Given the description of an element on the screen output the (x, y) to click on. 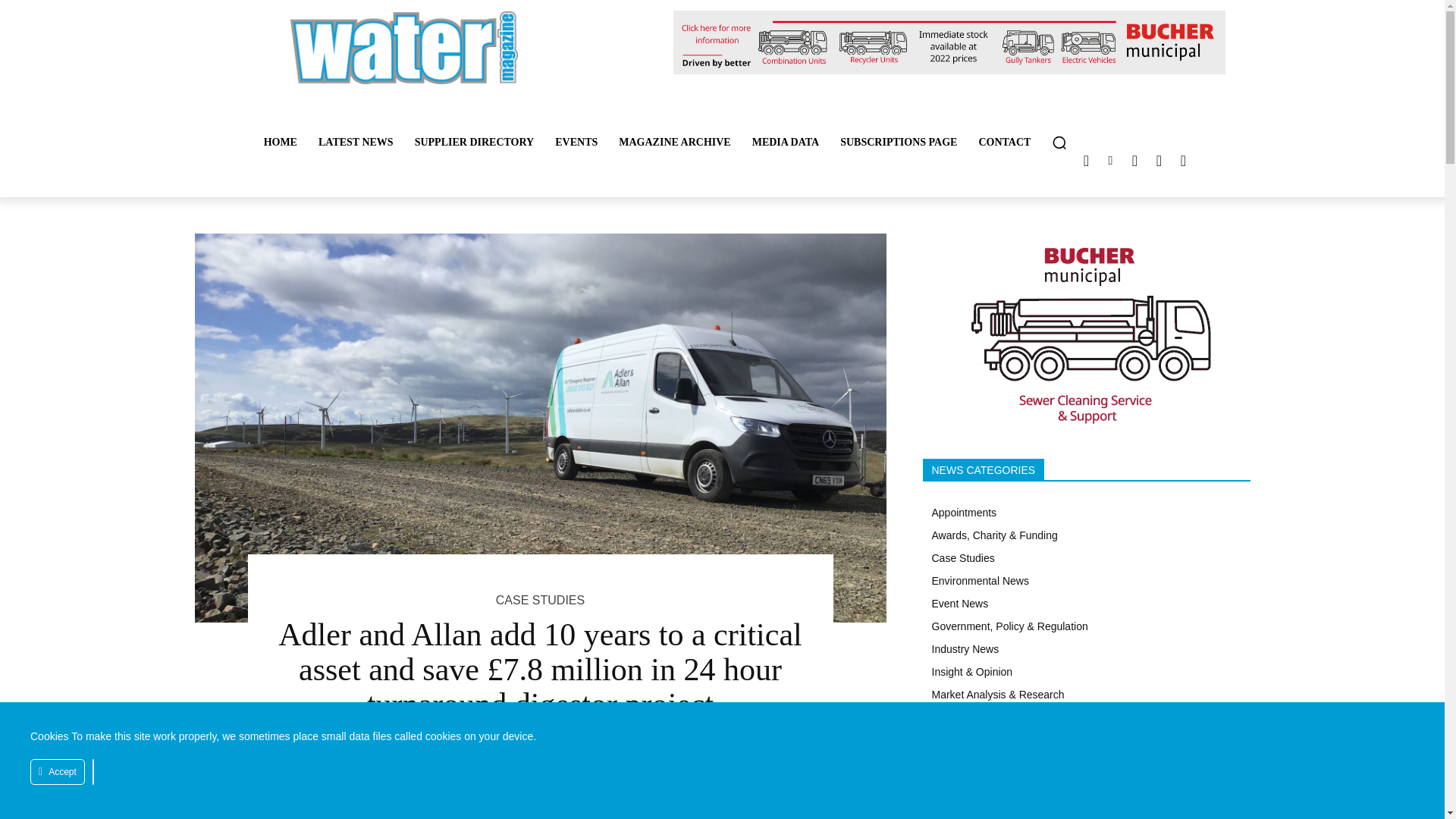
MAGAZINE ARCHIVE (674, 142)
CONTACT (1004, 142)
SUBSCRIPTIONS PAGE (898, 142)
Linkedin (1110, 160)
HOME (280, 142)
Twitter (1085, 160)
Youtube (1182, 160)
MEDIA DATA (785, 142)
SUPPLIER DIRECTORY (474, 142)
EVENTS (576, 142)
Instagram (1133, 160)
Facebook (1158, 160)
LATEST NEWS (355, 142)
